Given the description of an element on the screen output the (x, y) to click on. 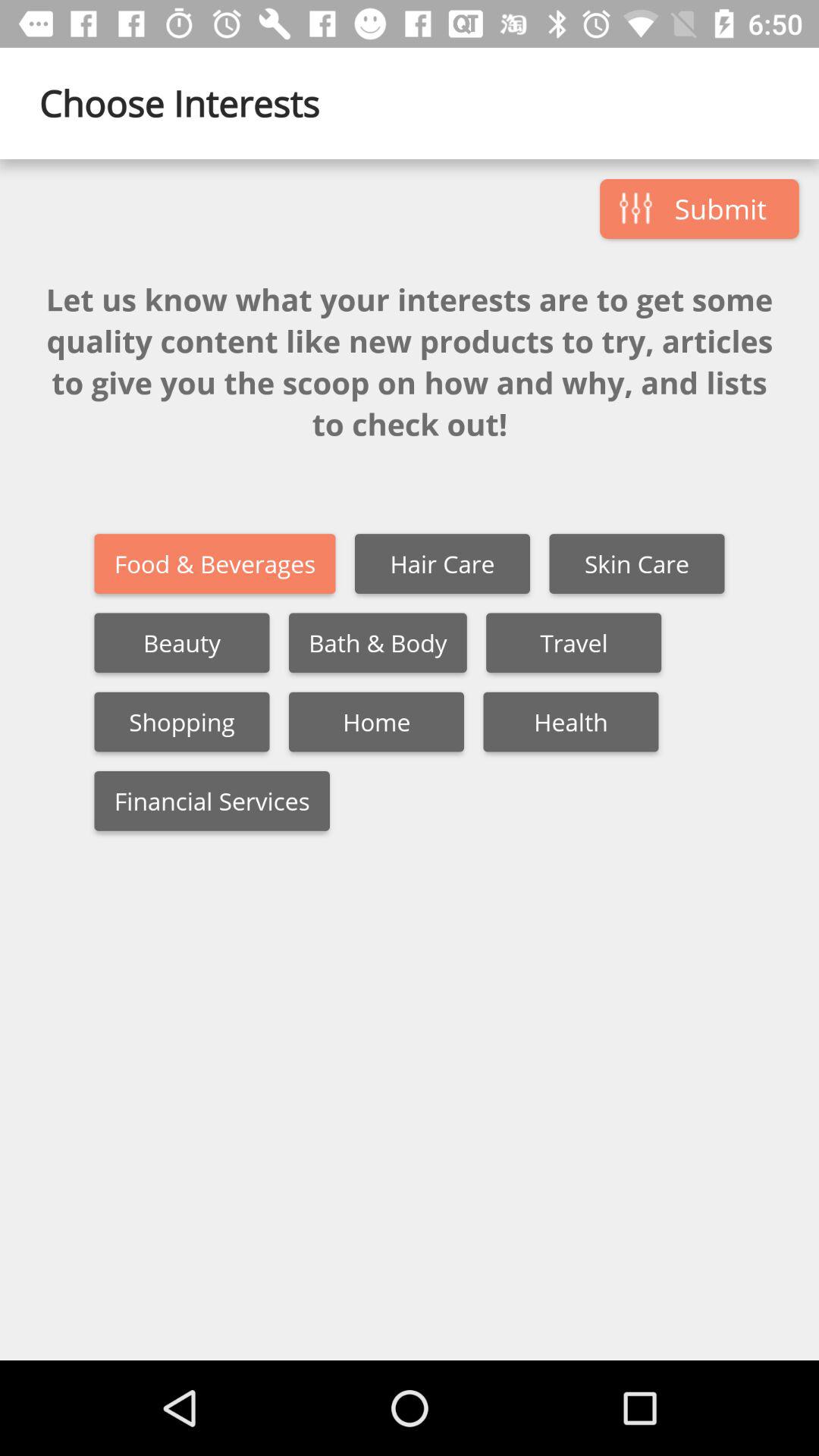
turn off the home (376, 721)
